Given the description of an element on the screen output the (x, y) to click on. 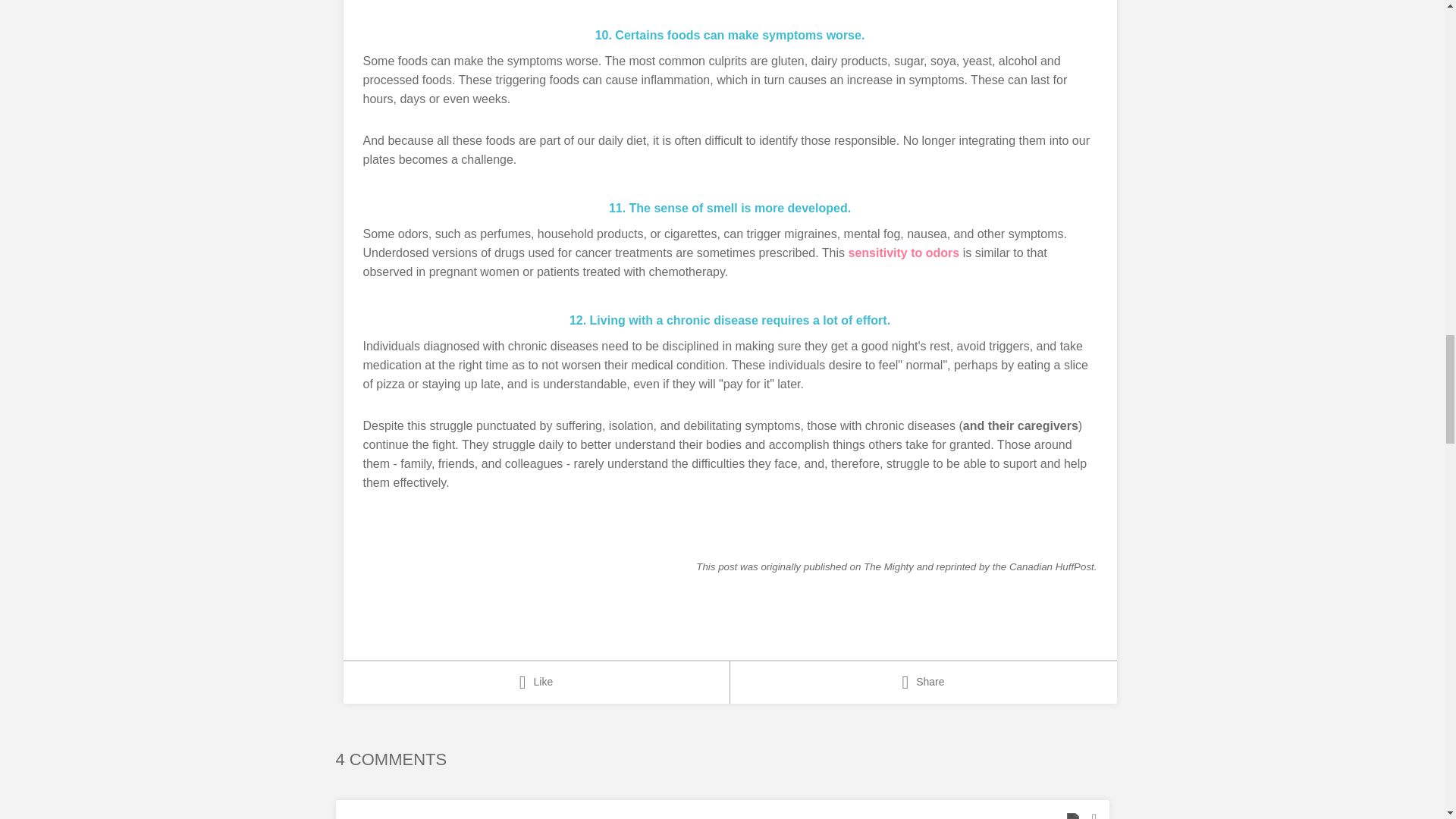
Share (922, 681)
I support this comment (1072, 813)
Like (535, 681)
Report this message (1094, 813)
